Given the description of an element on the screen output the (x, y) to click on. 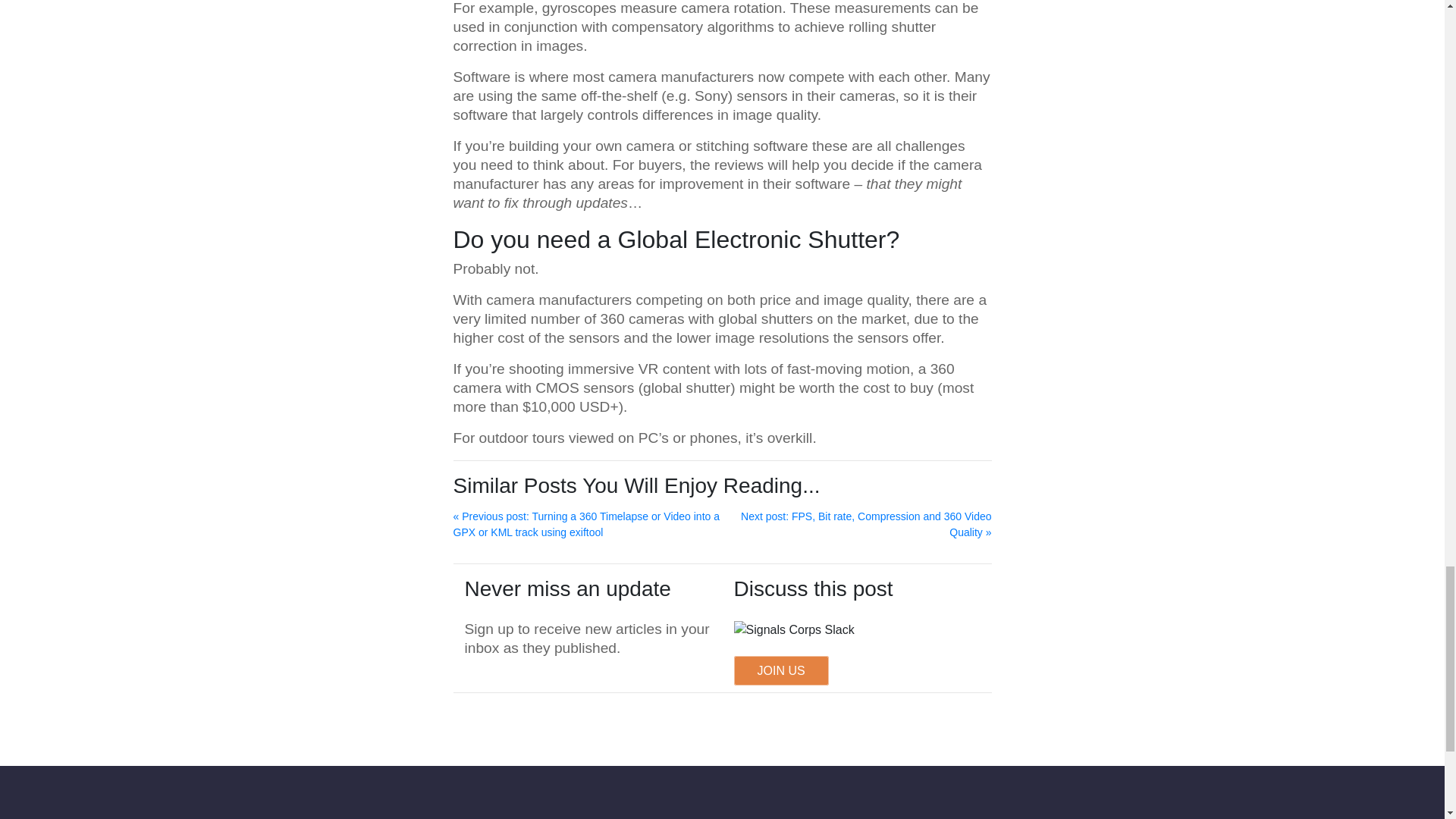
Signals Corps Slack (793, 629)
Spotted a Trekker? (411, 817)
Slack Community (1007, 817)
JOIN US (780, 670)
Blog (679, 817)
